Given the description of an element on the screen output the (x, y) to click on. 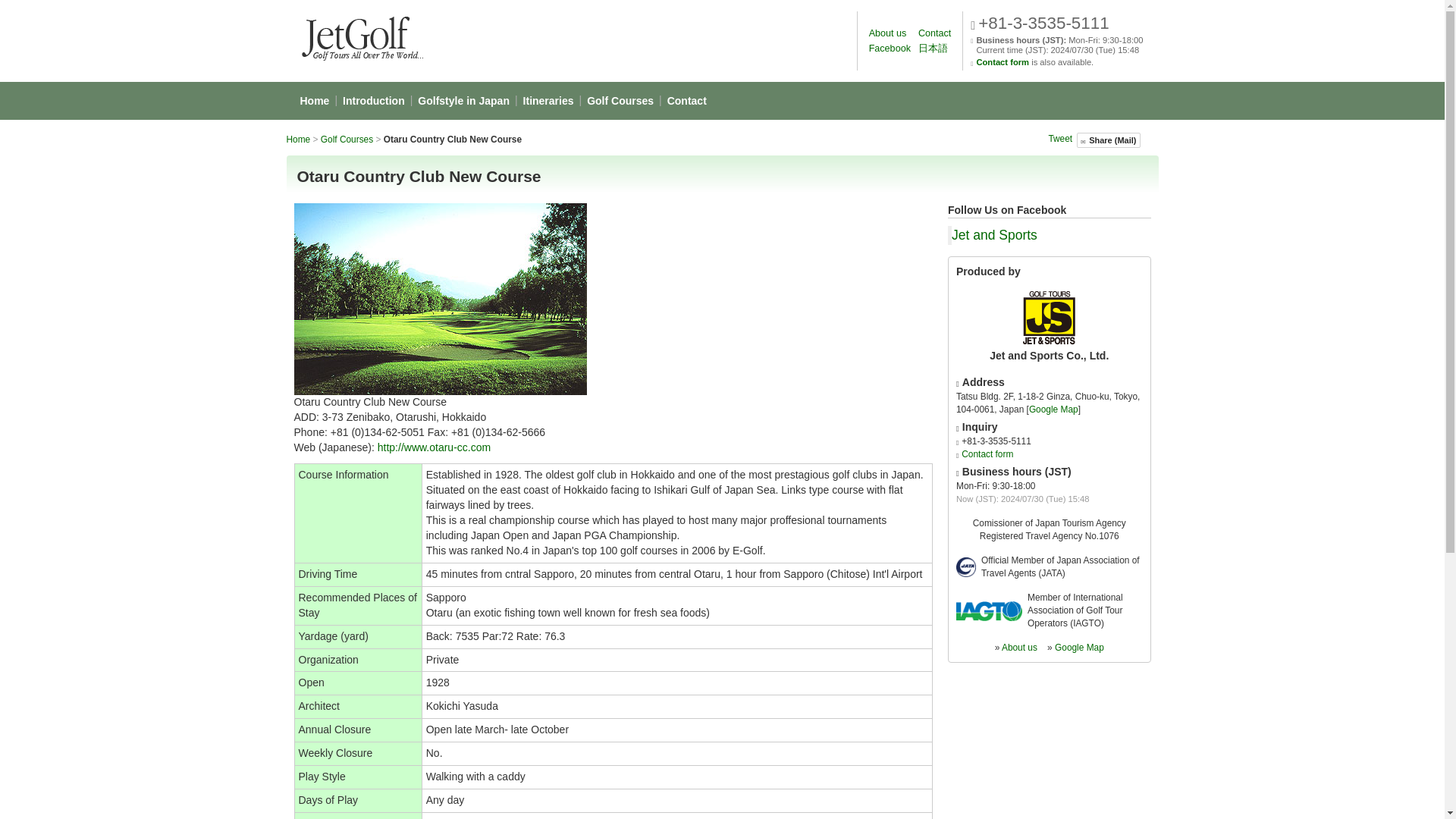
Golfstyle in Japan (463, 100)
Tweet (1059, 138)
Contact (687, 100)
Golf Courses (346, 139)
Home (314, 100)
About us (888, 32)
Facebook (890, 48)
Introduction (373, 100)
Contact form (986, 453)
Home (298, 139)
Jet and Sports Japanese Version (932, 48)
Contact (687, 100)
About us (1018, 647)
Jet and Sports (994, 234)
Golf Courses (620, 100)
